Given the description of an element on the screen output the (x, y) to click on. 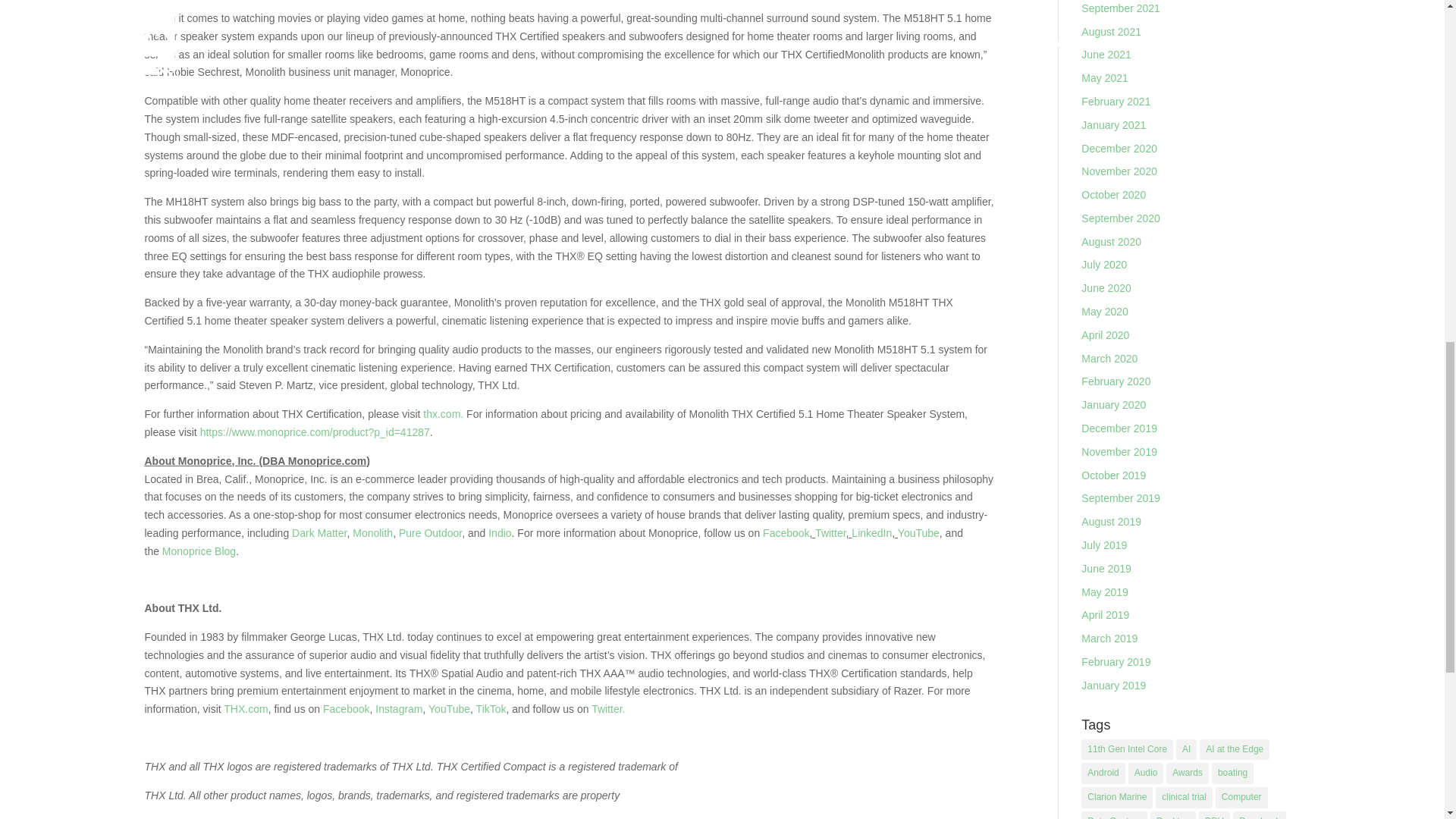
THX.com (245, 708)
Facebook (785, 532)
YouTube (918, 532)
Instagram (398, 708)
Twitter (830, 532)
YouTube (449, 708)
Indio (499, 532)
LinkedIn (871, 532)
Dark Matter (319, 532)
Monoprice Blog (198, 551)
Pure Outdoor (429, 532)
thx.com. (443, 413)
TikTok (491, 708)
Twitter. (607, 708)
Monolith (372, 532)
